Given the description of an element on the screen output the (x, y) to click on. 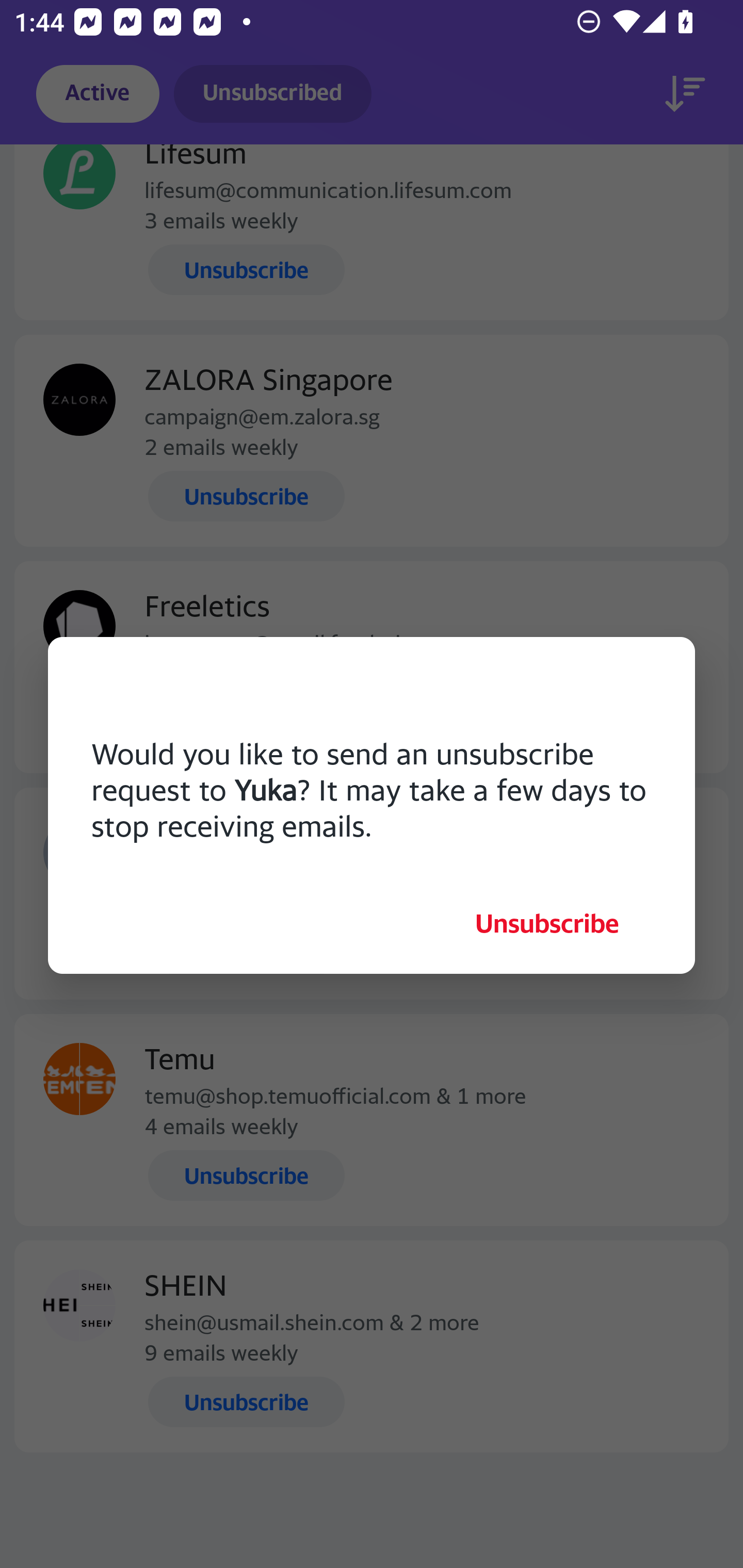
Unsubscribe (546, 923)
